Given the description of an element on the screen output the (x, y) to click on. 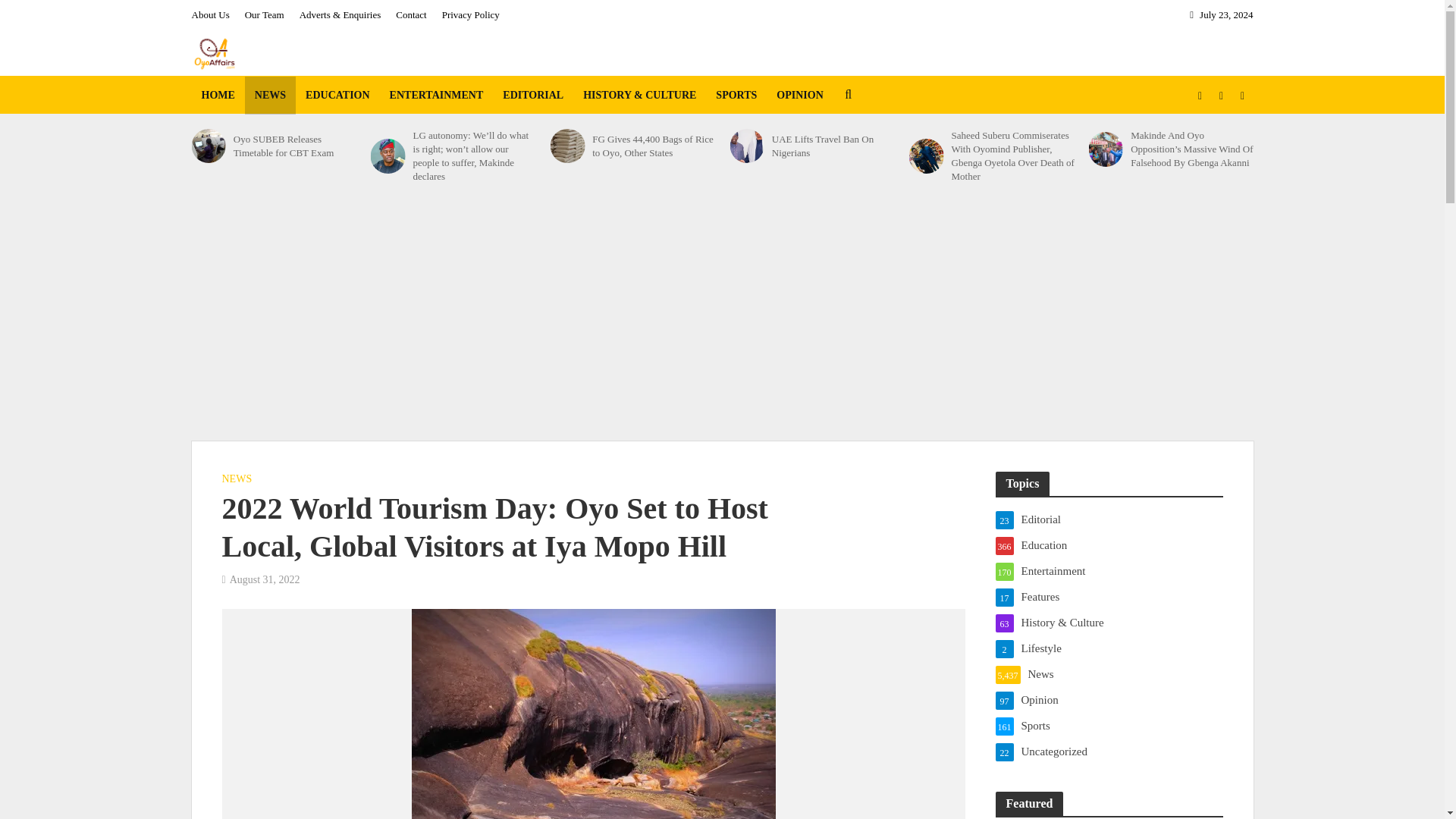
About Us (212, 15)
Our Team (264, 15)
EDITORIAL (533, 95)
ENTERTAINMENT (436, 95)
Contact (410, 15)
Oyo SUBEB Releases Timetable for CBT Exam (207, 145)
FG Gives 44,400 Bags of Rice to Oyo, Other States (567, 145)
SPORTS (736, 95)
EDUCATION (337, 95)
OPINION (799, 95)
UAE Lifts Travel Ban On Nigerians (745, 145)
Privacy Policy (469, 15)
NEWS (269, 95)
HOME (217, 95)
